Given the description of an element on the screen output the (x, y) to click on. 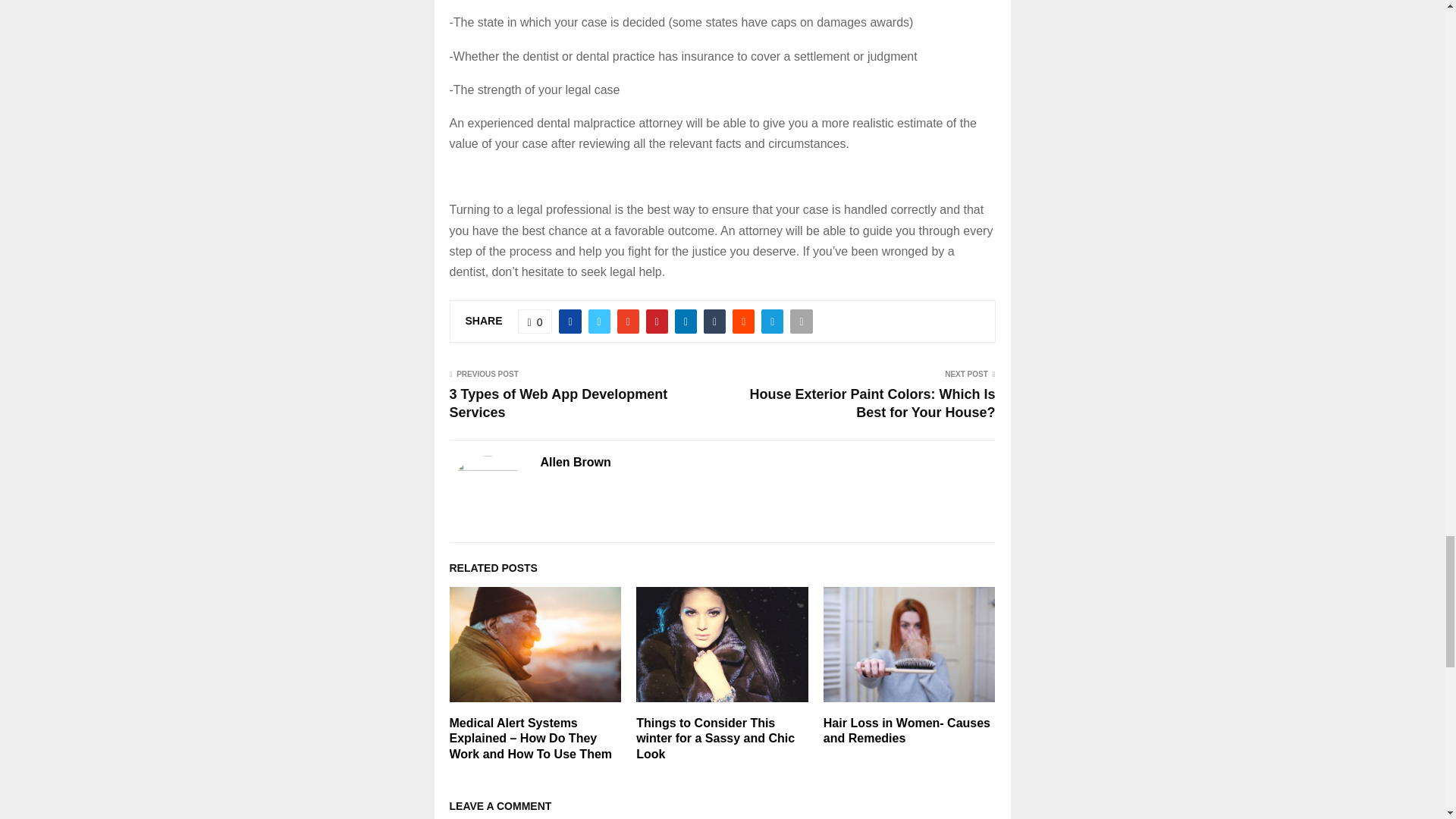
Like (535, 321)
Posts by Allen Brown (575, 462)
